Given the description of an element on the screen output the (x, y) to click on. 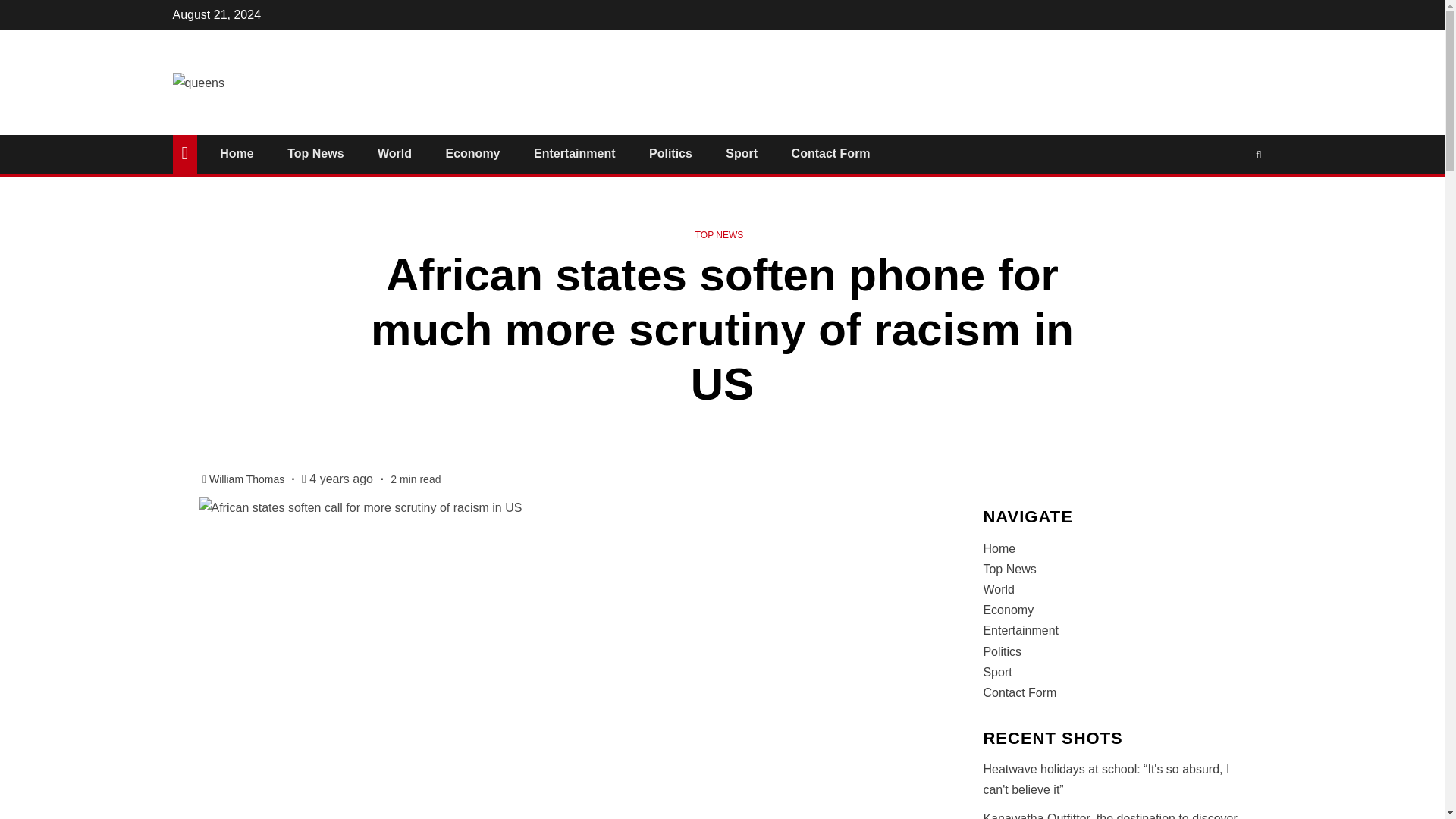
World (394, 153)
World (998, 589)
Economy (472, 153)
TOP NEWS (719, 235)
Politics (671, 153)
Sport (741, 153)
William Thomas (247, 479)
Home (236, 153)
Contact Form (831, 153)
Search (1229, 199)
